Given the description of an element on the screen output the (x, y) to click on. 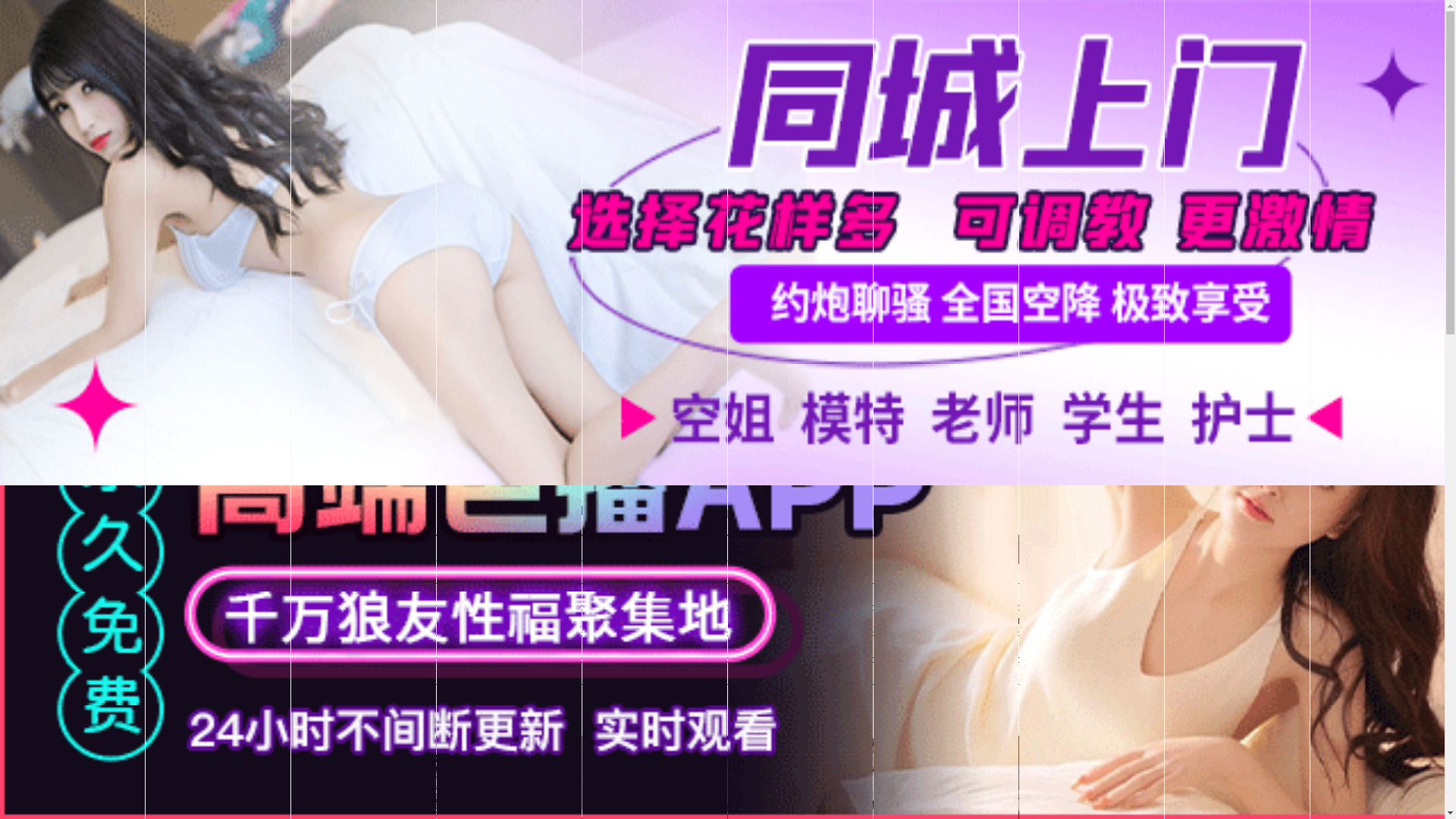
Korean Element type: text (700, 620)
SM Element type: text (1013, 620)
91TV Element type: hover (1240, 593)
3P Element type: text (968, 620)
COS Element type: text (835, 646)
91 Element type: text (567, 594)
